Given the description of an element on the screen output the (x, y) to click on. 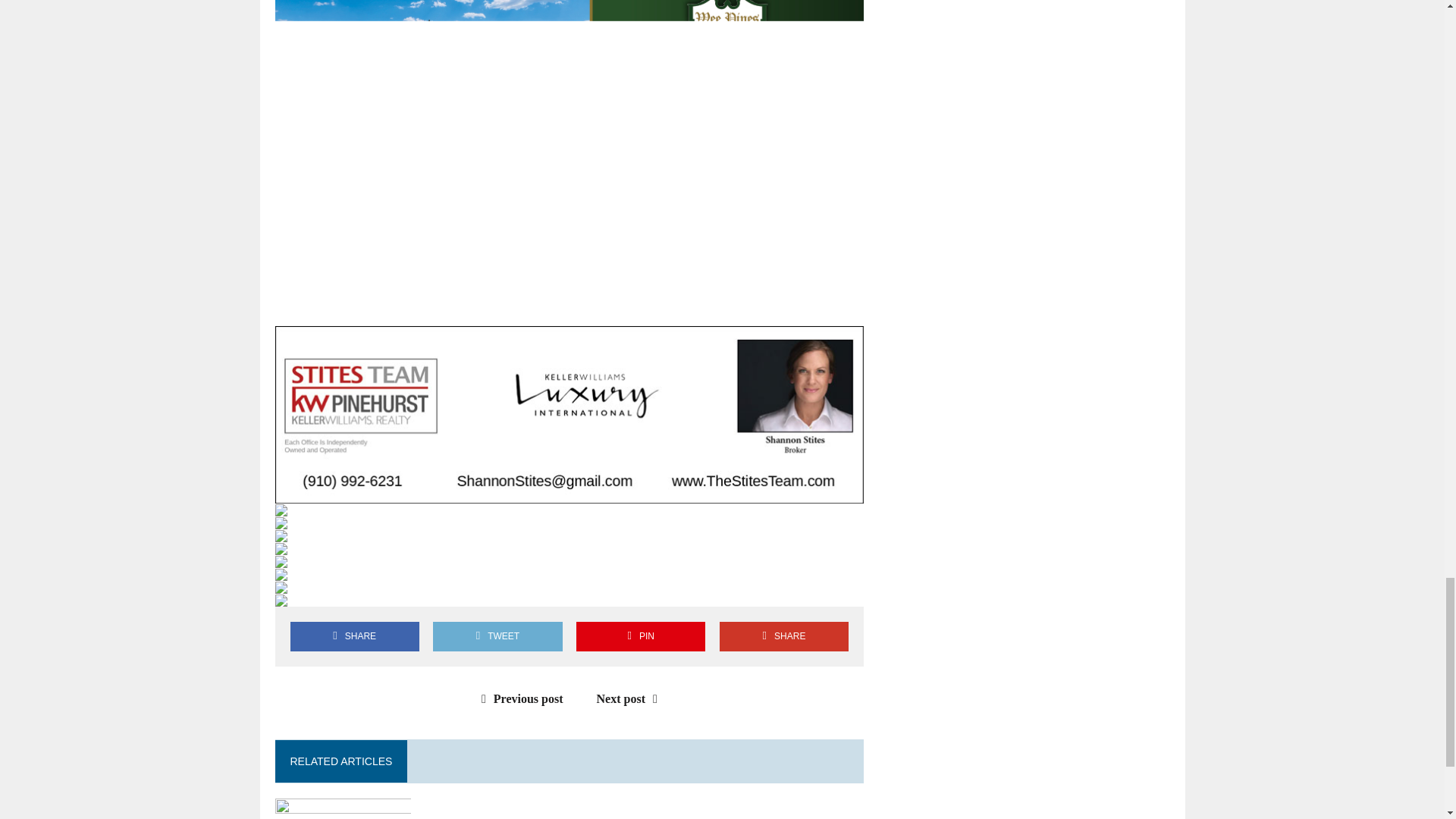
Pin This Post (640, 636)
Tweet This Post (497, 636)
Share on Facebook (354, 636)
TWEET (497, 636)
Next post (630, 698)
PIN (640, 636)
SHARE (783, 636)
SHARE (354, 636)
Previous post (518, 698)
